Given the description of an element on the screen output the (x, y) to click on. 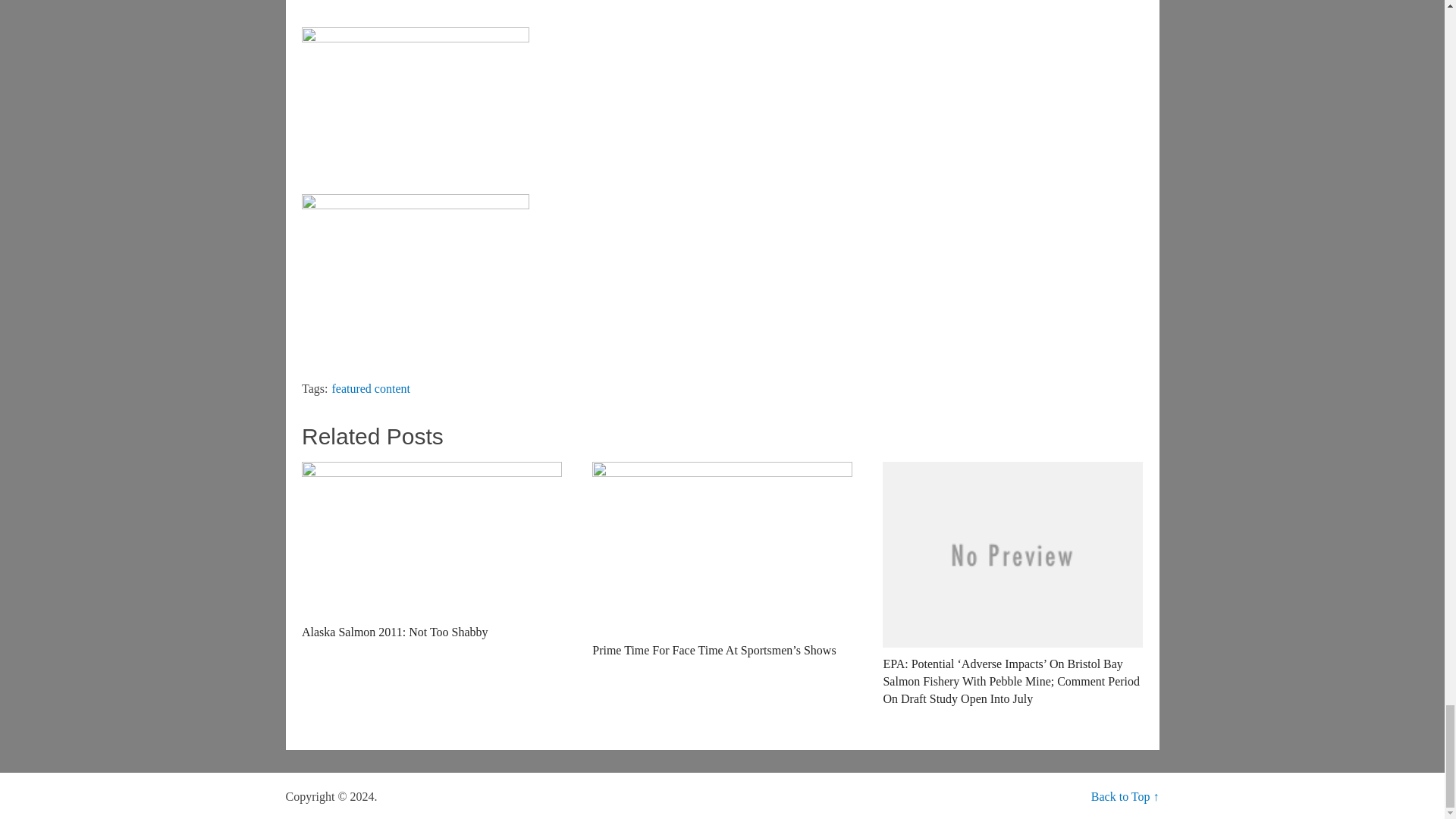
featured content (370, 388)
Alaska Salmon 2011: Not Too Shabby (430, 550)
Alaska Salmon 2011: Not Too Shabby (430, 550)
